Given the description of an element on the screen output the (x, y) to click on. 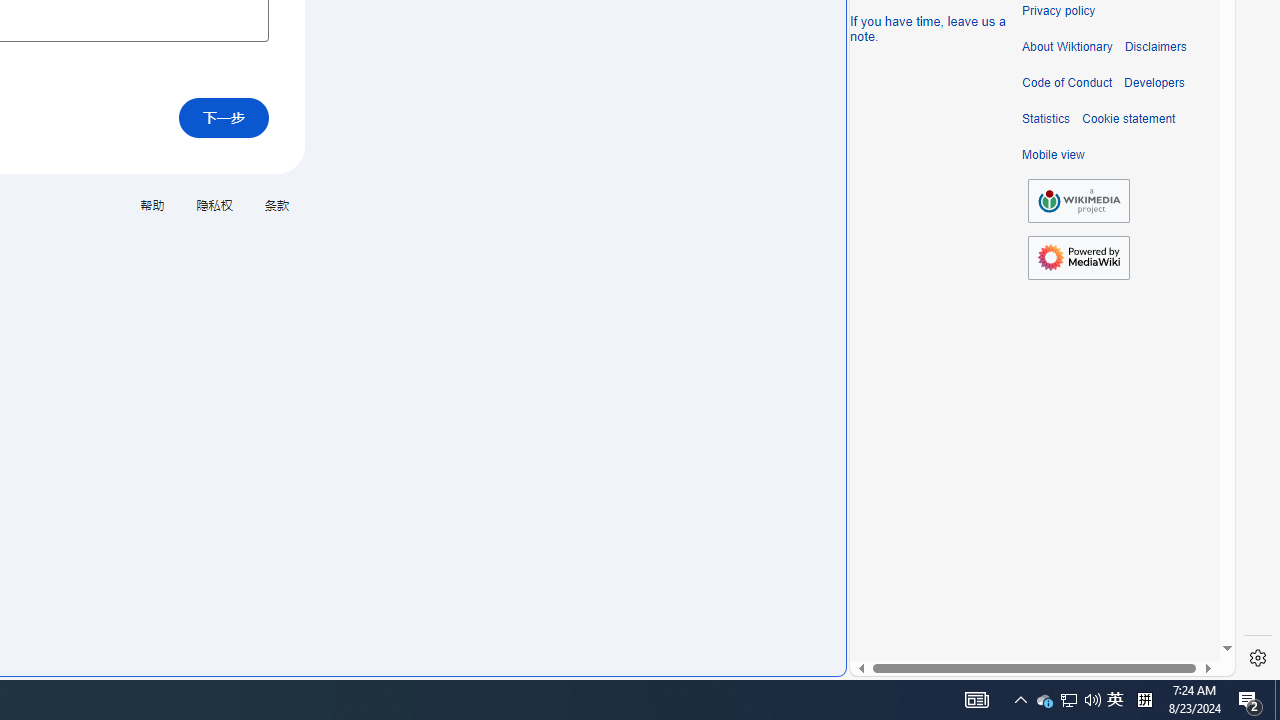
Wikimedia Foundation (1078, 200)
